Given the description of an element on the screen output the (x, y) to click on. 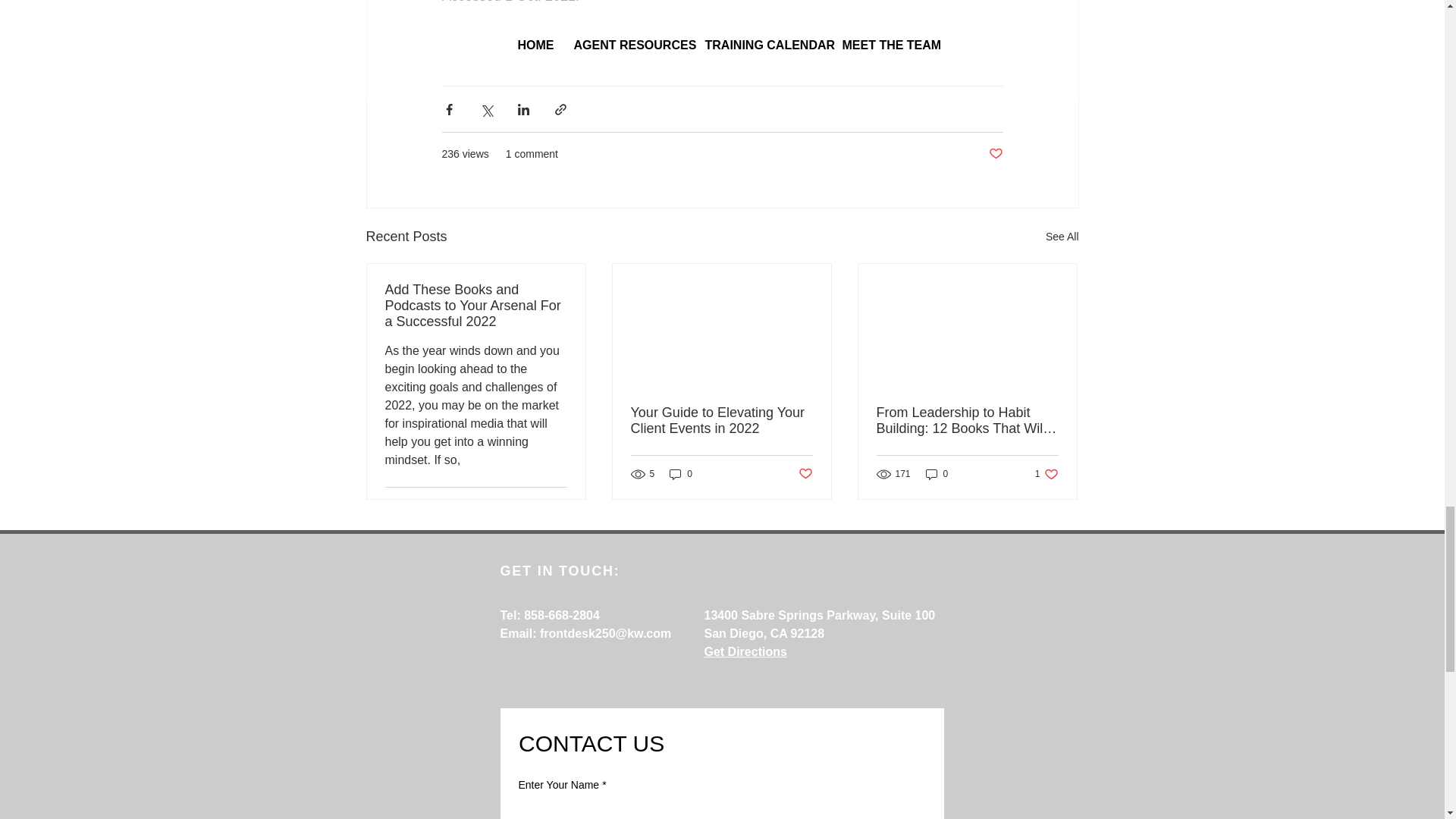
0 (681, 473)
Post not marked as liked (995, 154)
0 (937, 473)
Post not marked as liked (558, 505)
Post not marked as liked (804, 473)
See All (1061, 237)
Get Directions (744, 651)
Your Guide to Elevating Your Client Events in 2022 (721, 420)
